Given the description of an element on the screen output the (x, y) to click on. 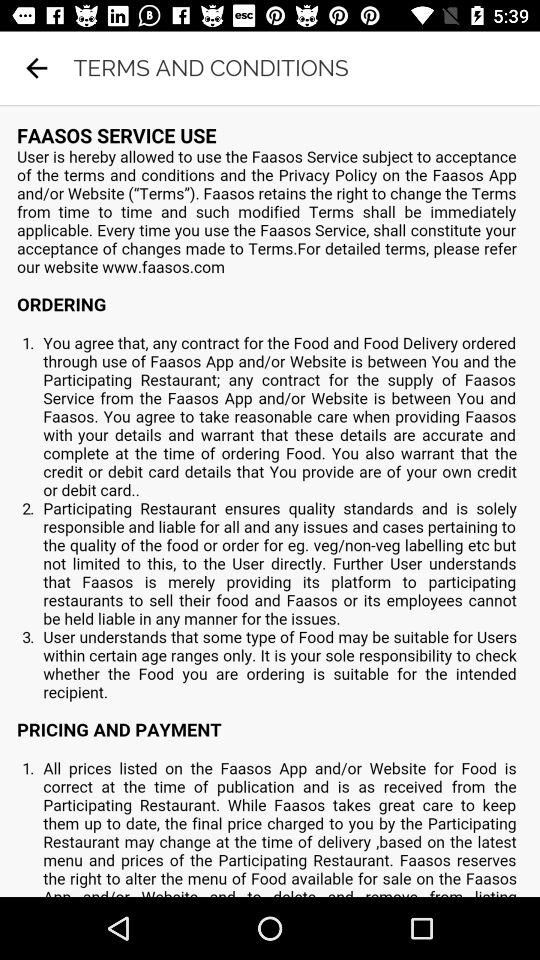
color print (270, 501)
